Given the description of an element on the screen output the (x, y) to click on. 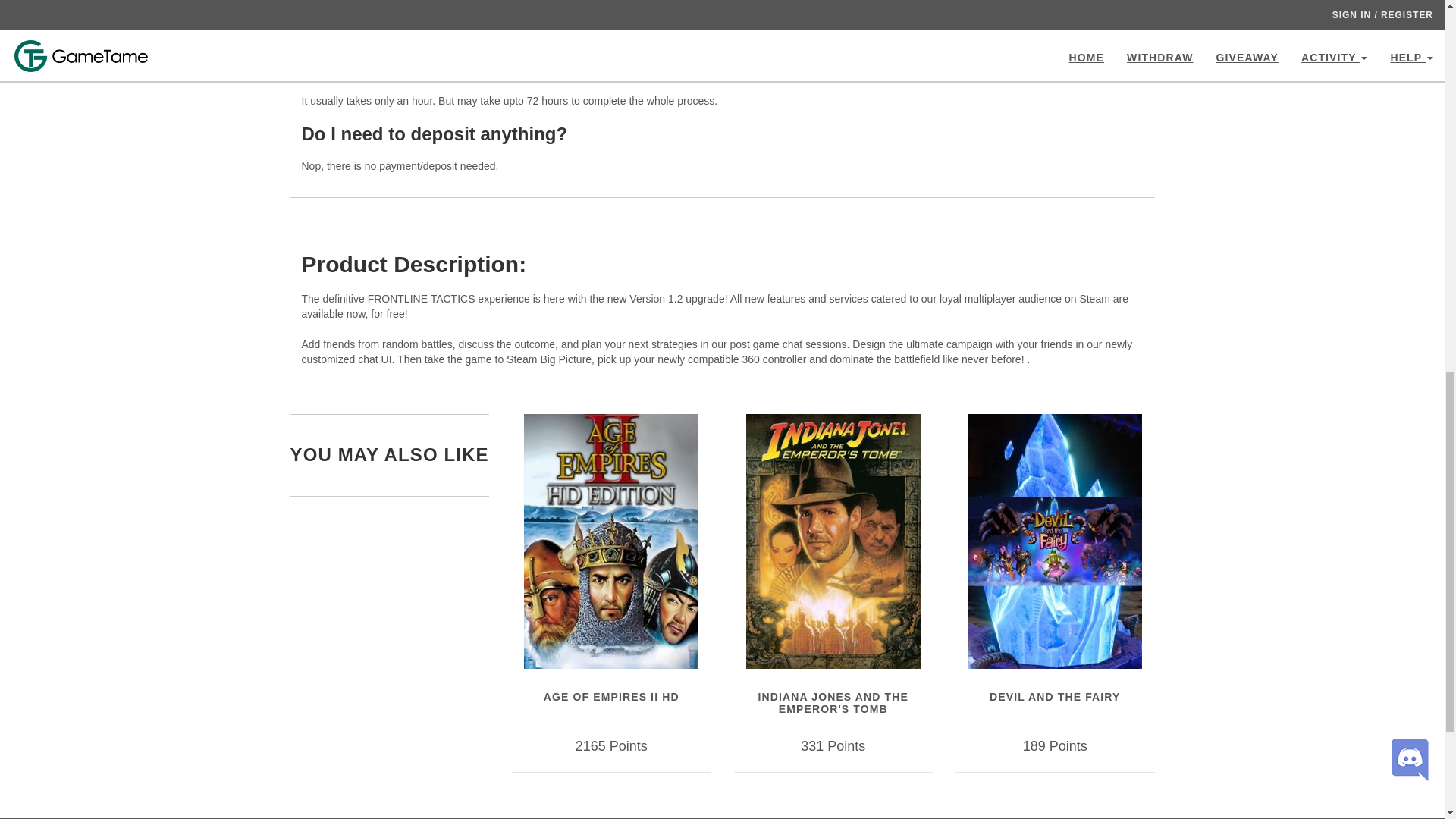
free account (368, 20)
INDIANA JONES AND THE EMPEROR'S TOMB (833, 702)
DEVIL AND THE FAIRY (1054, 696)
AGE OF EMPIRES II HD (611, 696)
Free Steam Games (601, 35)
